Given the description of an element on the screen output the (x, y) to click on. 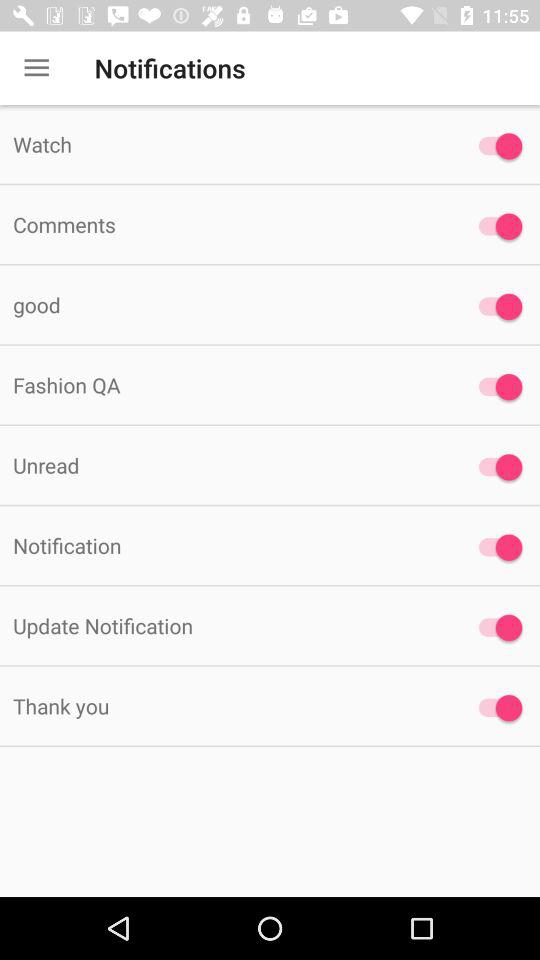
select/unselect notification (495, 708)
